Given the description of an element on the screen output the (x, y) to click on. 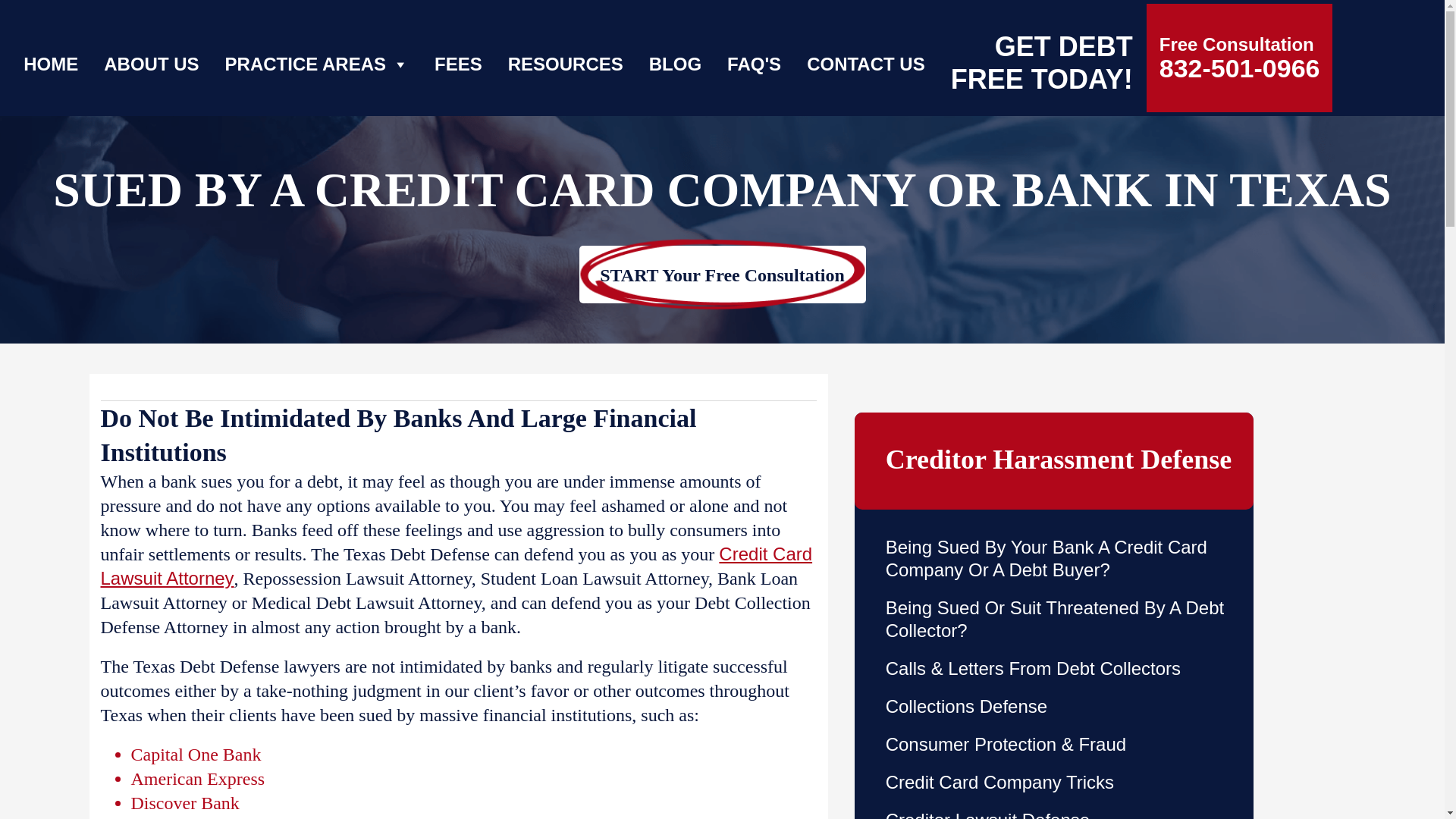
HOME (50, 52)
PRACTICE AREAS (316, 52)
ABOUT US (151, 52)
